Given the description of an element on the screen output the (x, y) to click on. 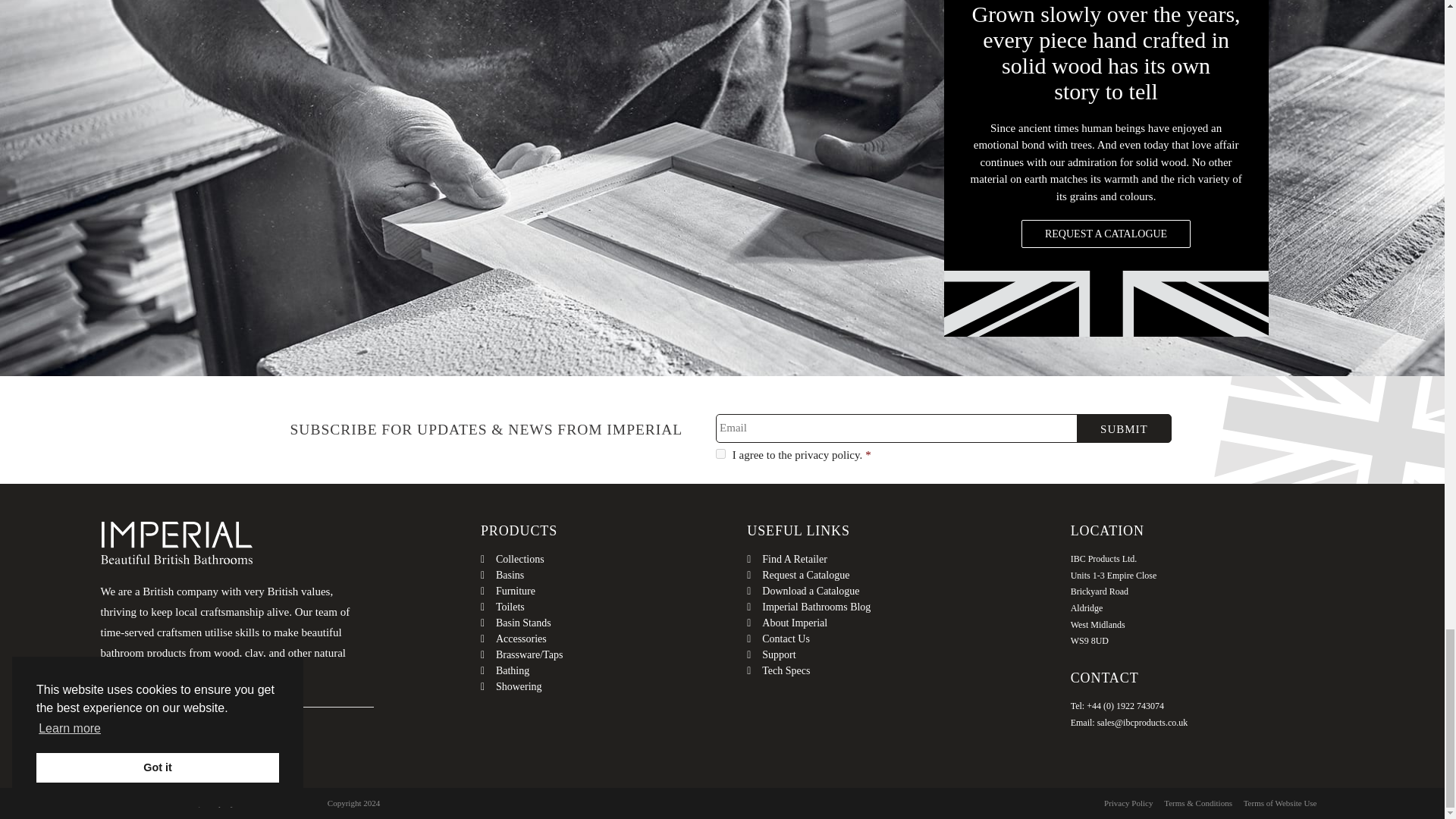
1 (720, 453)
Submit (1124, 428)
